Given the description of an element on the screen output the (x, y) to click on. 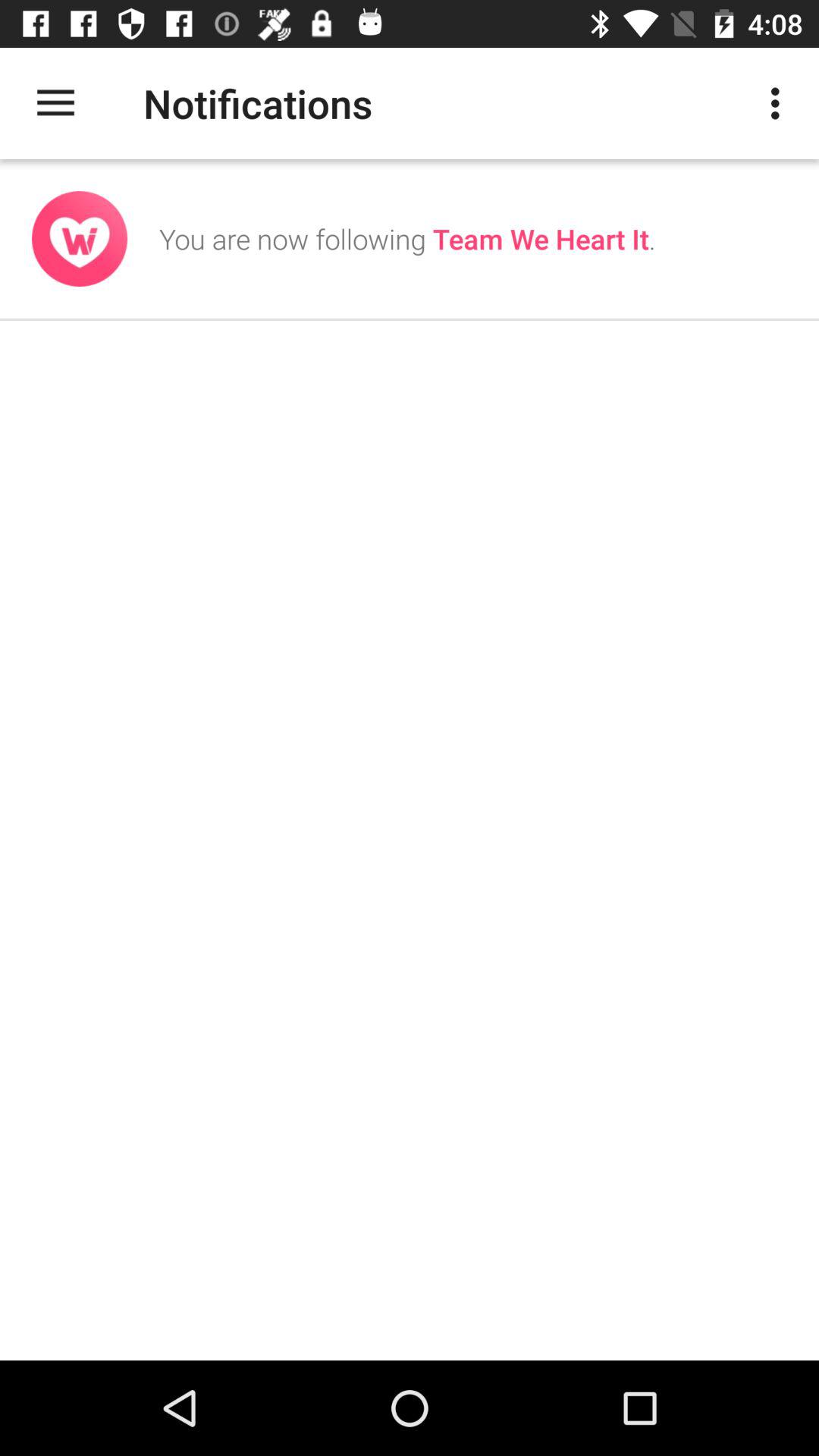
press the icon to the right of the notifications (779, 103)
